Given the description of an element on the screen output the (x, y) to click on. 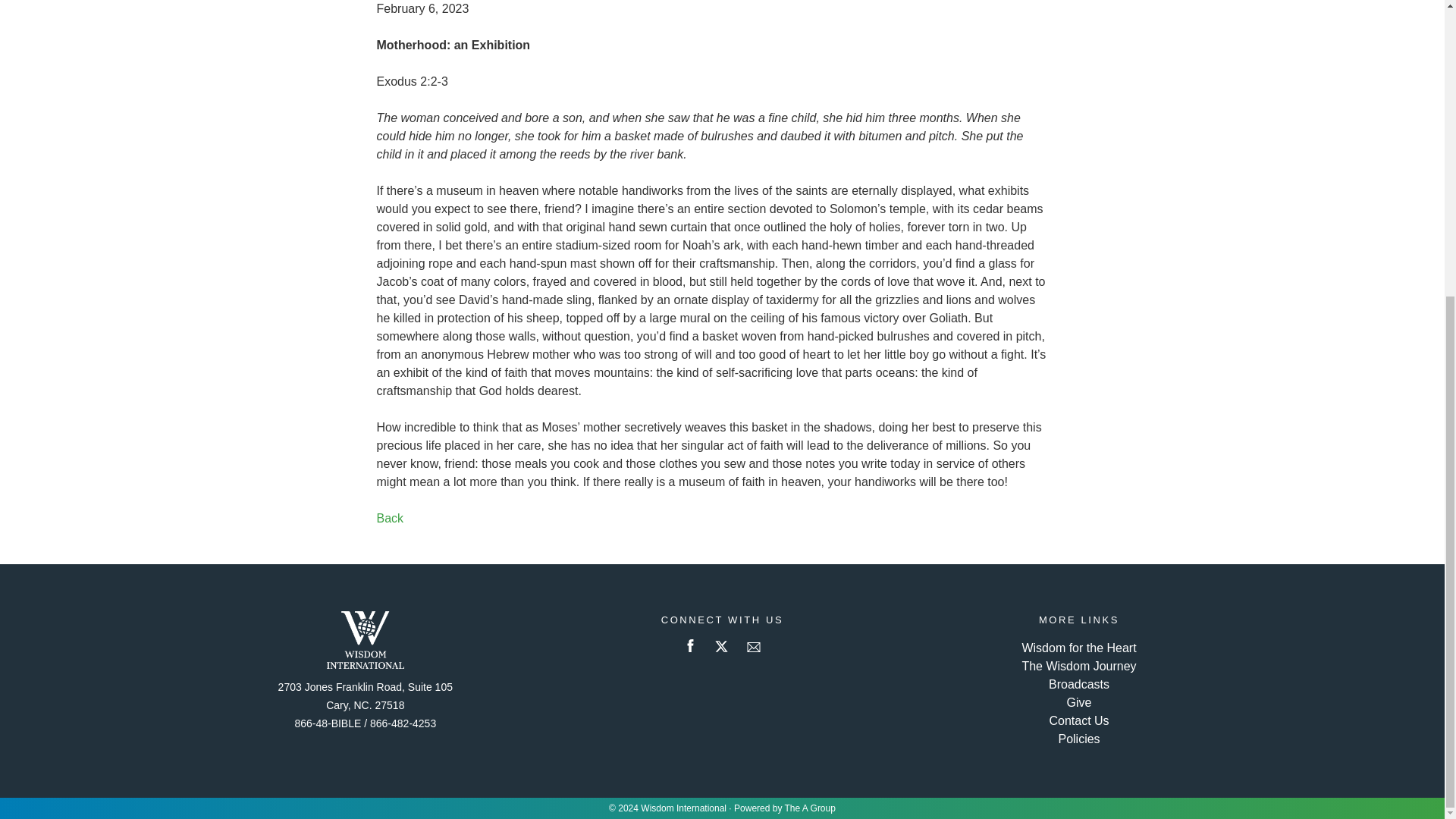
Wisdom for the Heart (1078, 647)
Back (389, 517)
The Wisdom Journey (1078, 666)
